Given the description of an element on the screen output the (x, y) to click on. 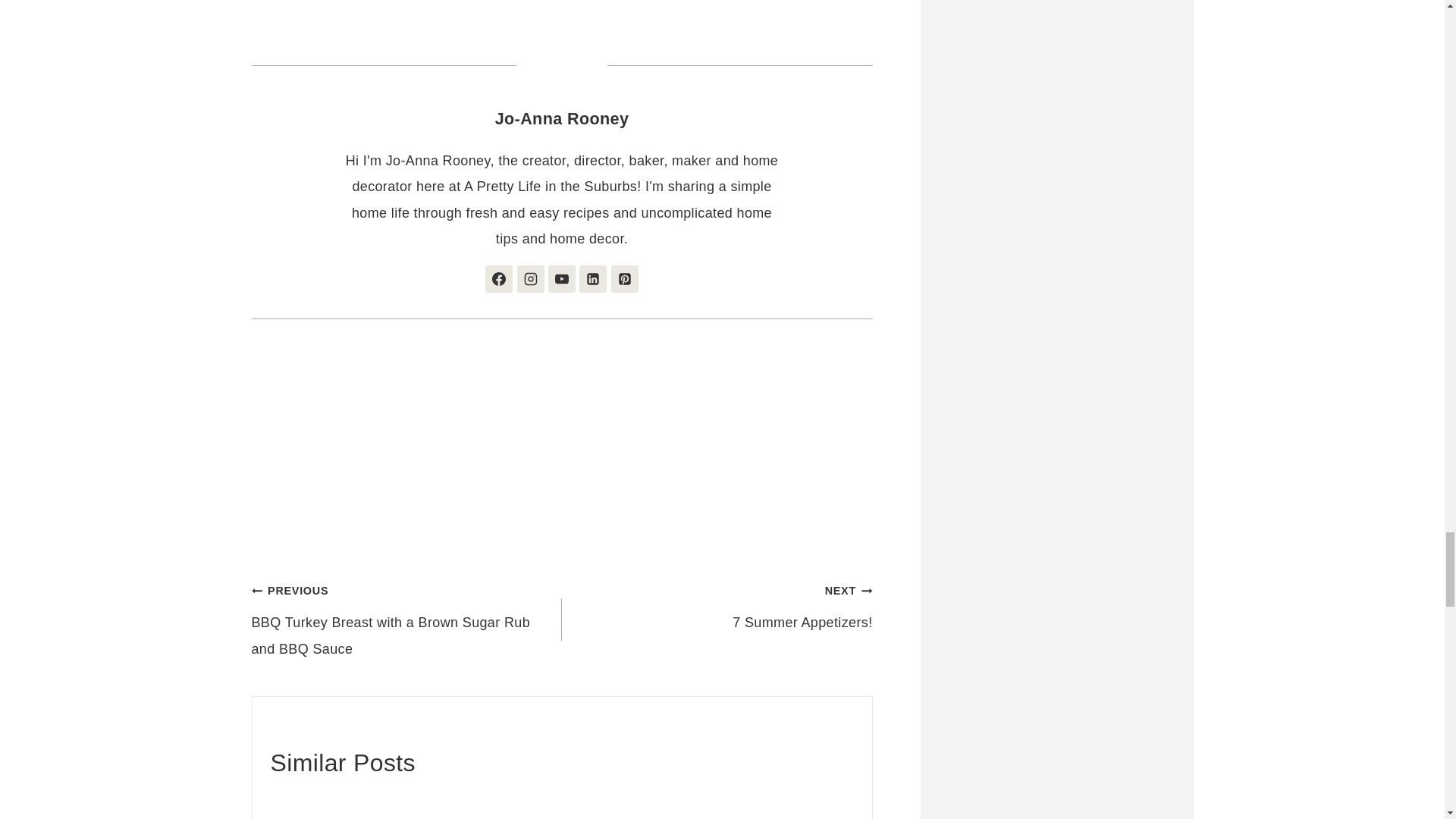
Posts by Jo-Anna Rooney (561, 117)
Follow Jo-Anna Rooney on Pinterest (625, 278)
Follow Jo-Anna Rooney on Facebook (498, 278)
Follow Jo-Anna Rooney on Linkedin (593, 278)
Follow Jo-Anna Rooney on Instagram (530, 278)
Follow Jo-Anna Rooney on Youtube (561, 278)
